Given the description of an element on the screen output the (x, y) to click on. 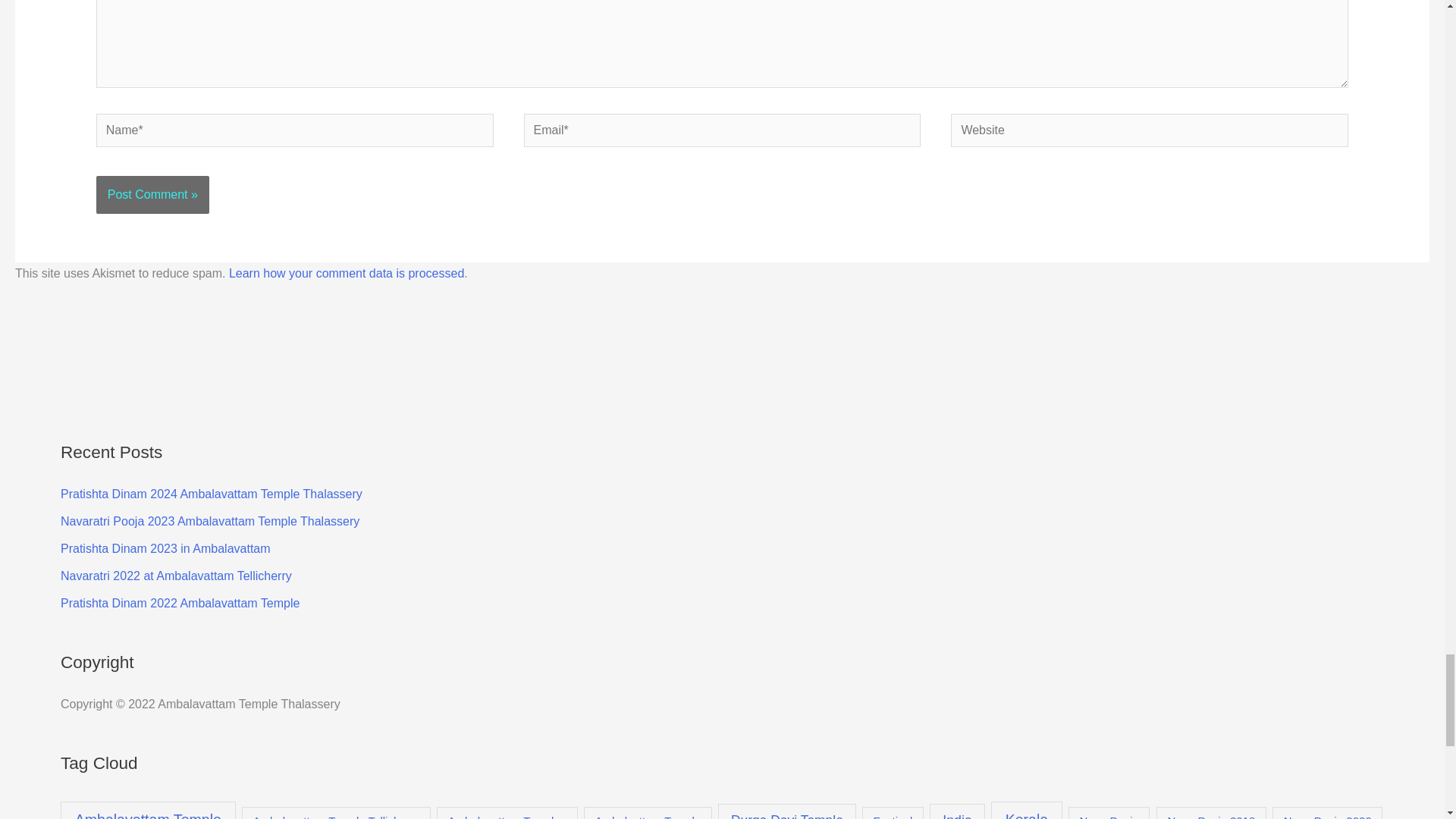
Learn how your comment data is processed (346, 273)
Navaratri Pooja 2023 Ambalavattam Temple Thalassery (210, 521)
Pratishta Dinam 2024 Ambalavattam Temple Thalassery (211, 493)
